Given the description of an element on the screen output the (x, y) to click on. 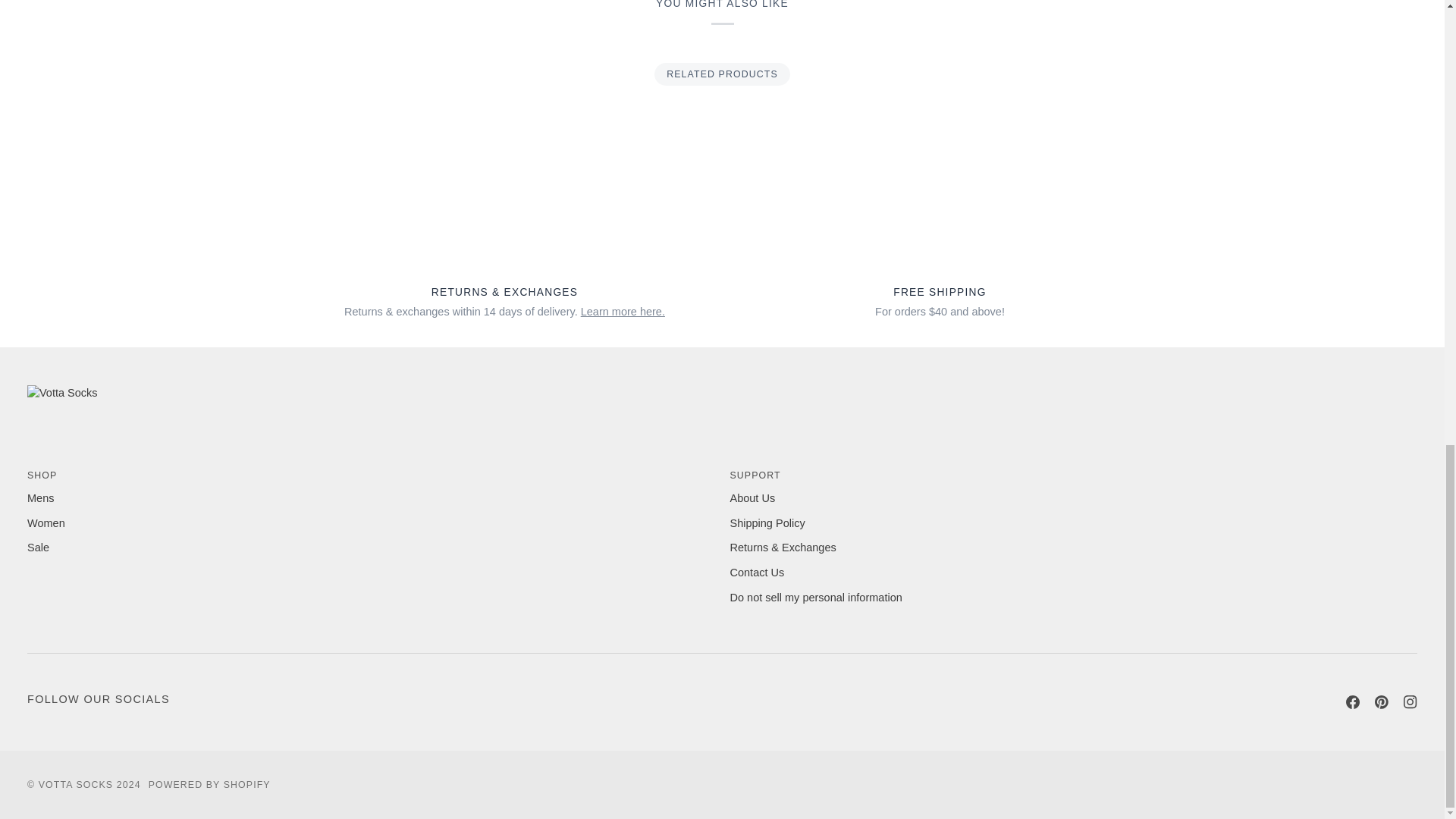
Pinterest (1381, 702)
Facebook (1352, 702)
Instagram (1409, 702)
RELATED PRODUCTS (721, 74)
